Given the description of an element on the screen output the (x, y) to click on. 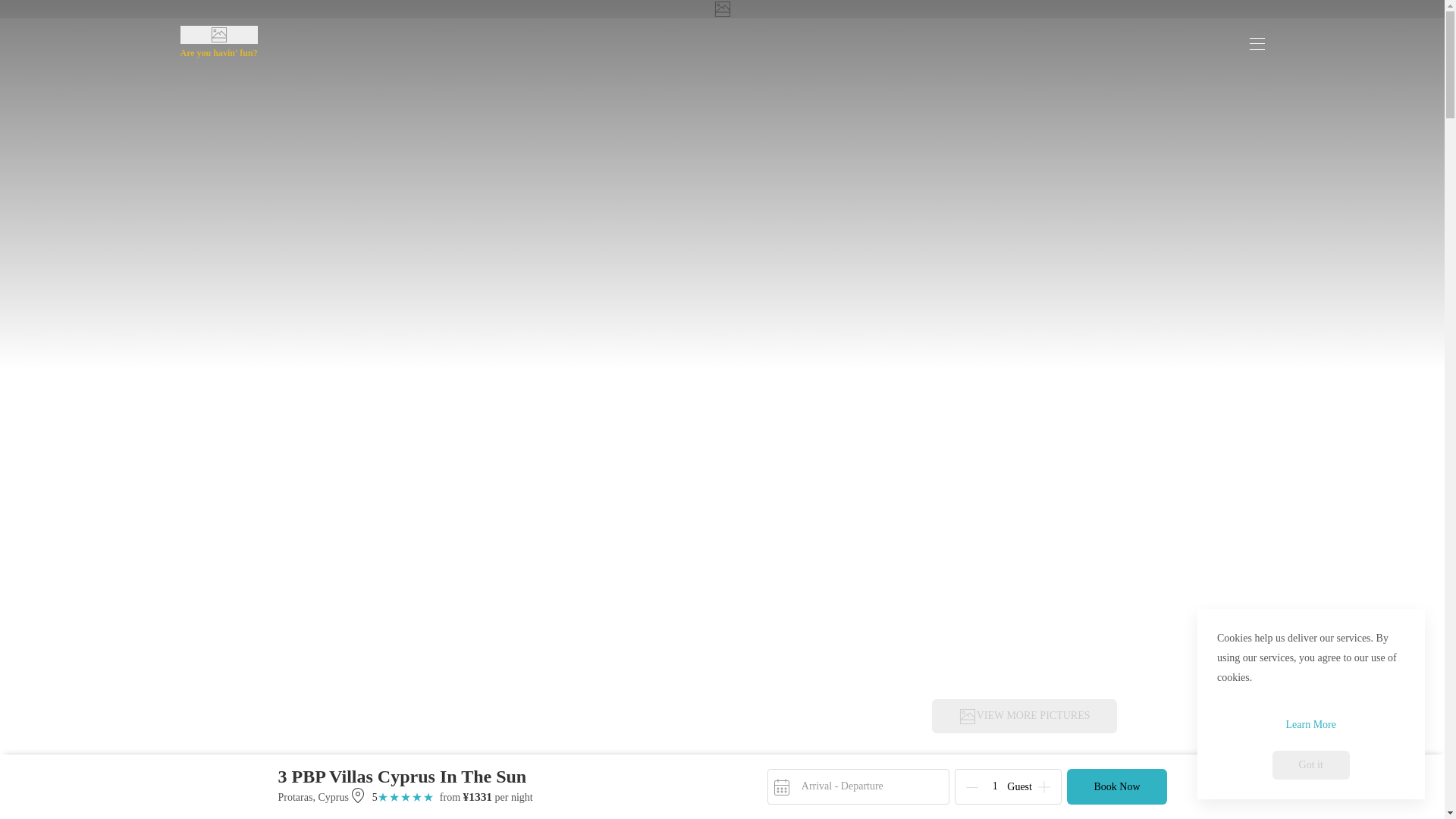
1 (995, 786)
Learn More (1310, 724)
Are you havin' fun? (218, 53)
Got it (1310, 764)
Are you havin' fun? (218, 43)
